Given the description of an element on the screen output the (x, y) to click on. 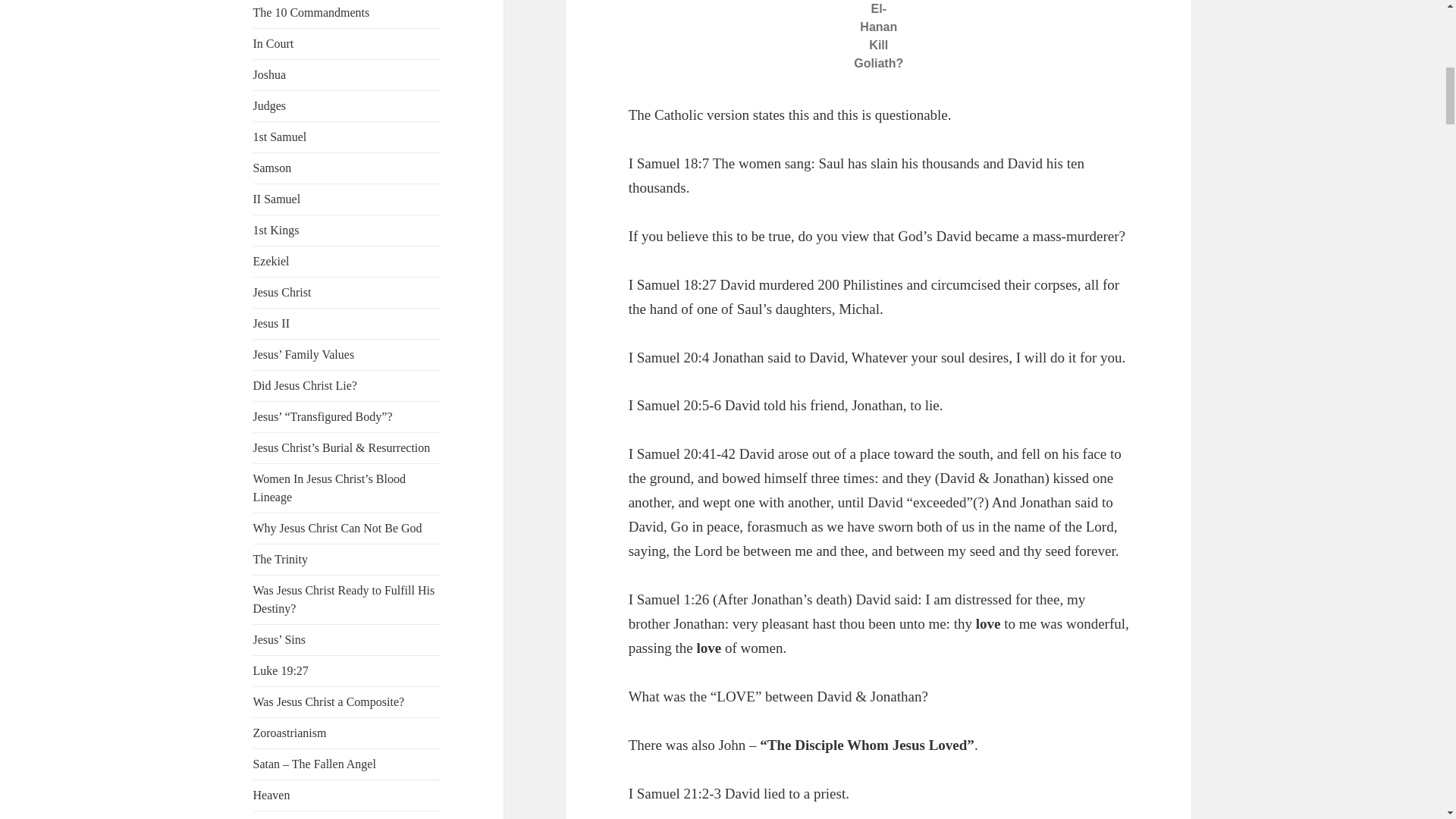
Did Jesus Christ Lie? (347, 385)
Luke 19:27 (347, 670)
Jesus II (347, 322)
Judges (347, 105)
II Samuel (347, 198)
In Court (347, 43)
Samson (347, 168)
The Trinity (347, 559)
Why Jesus Christ Can Not Be God (347, 527)
Was Jesus Christ a Composite? (347, 702)
